Given the description of an element on the screen output the (x, y) to click on. 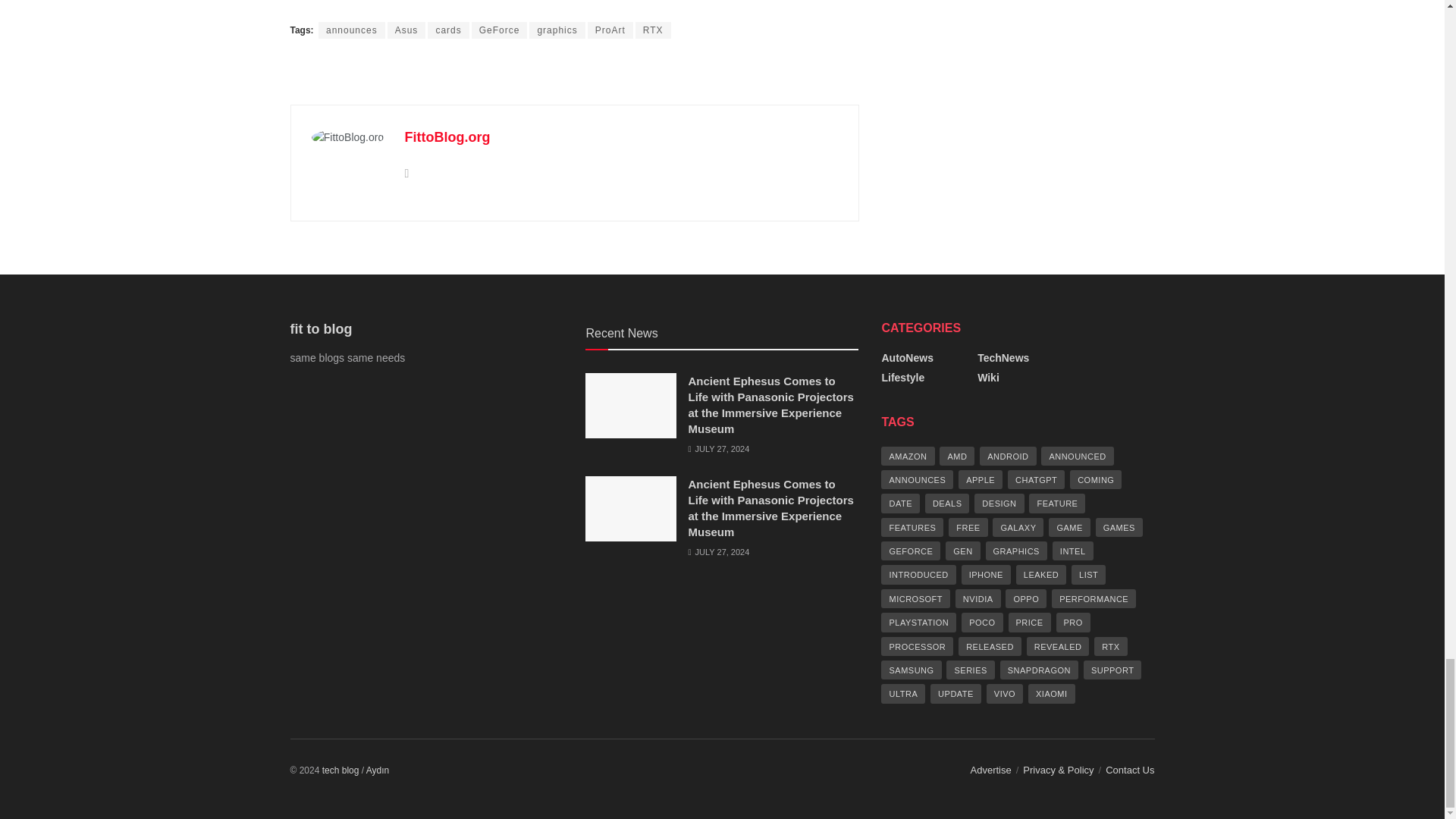
Asus (406, 30)
announces (351, 30)
tech blog (340, 769)
ProArt (610, 30)
graphics (557, 30)
RTX (652, 30)
cards (448, 30)
FittoBlog.org (447, 136)
GeForce (499, 30)
